Given the description of an element on the screen output the (x, y) to click on. 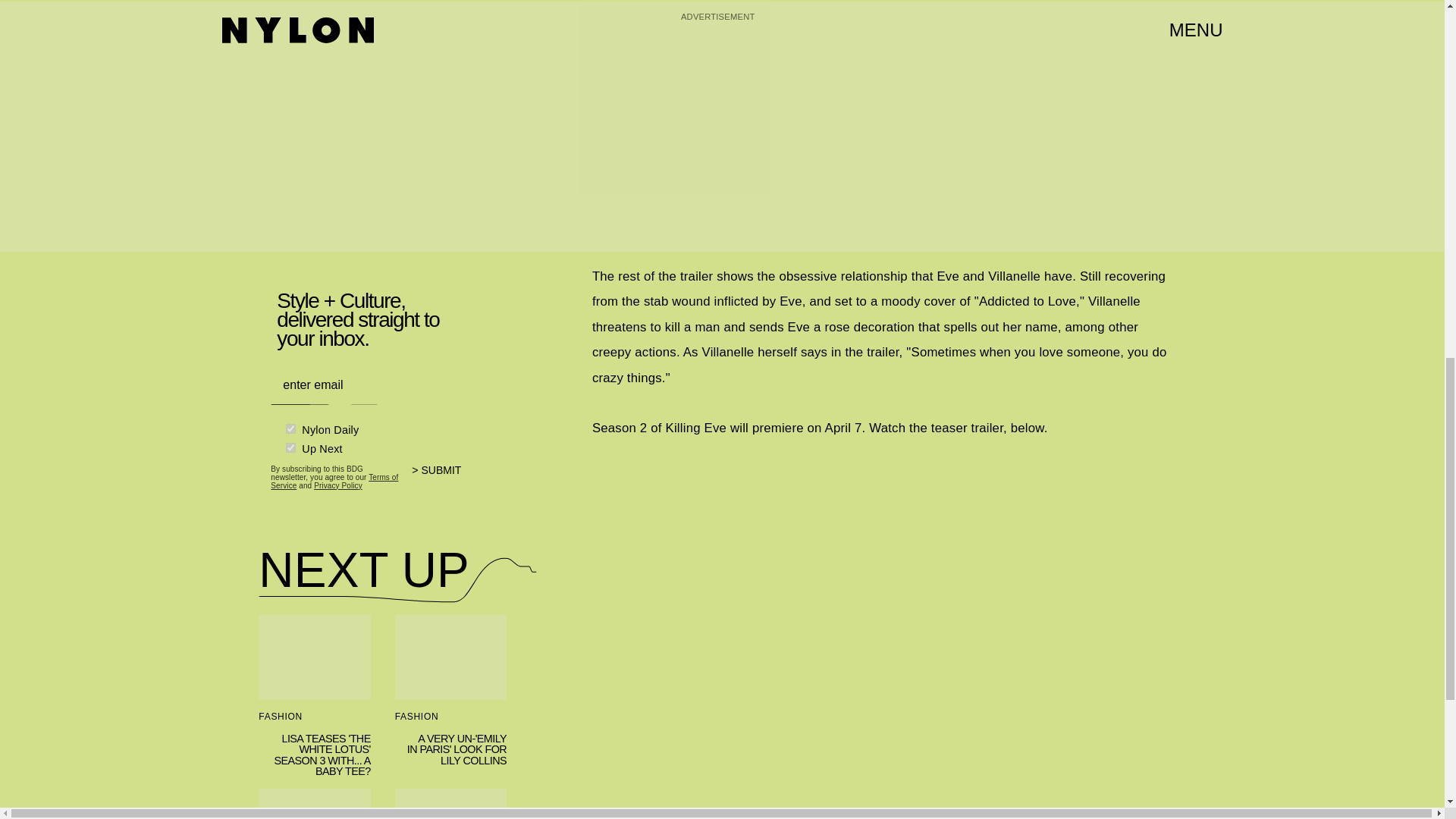
MILEY CYRUS JUST MADE HISTORY AS A DISNEY LEGENDS HONOREE (450, 803)
Terms of Service (333, 481)
SUBMIT (443, 479)
Privacy Policy (338, 484)
